Given the description of an element on the screen output the (x, y) to click on. 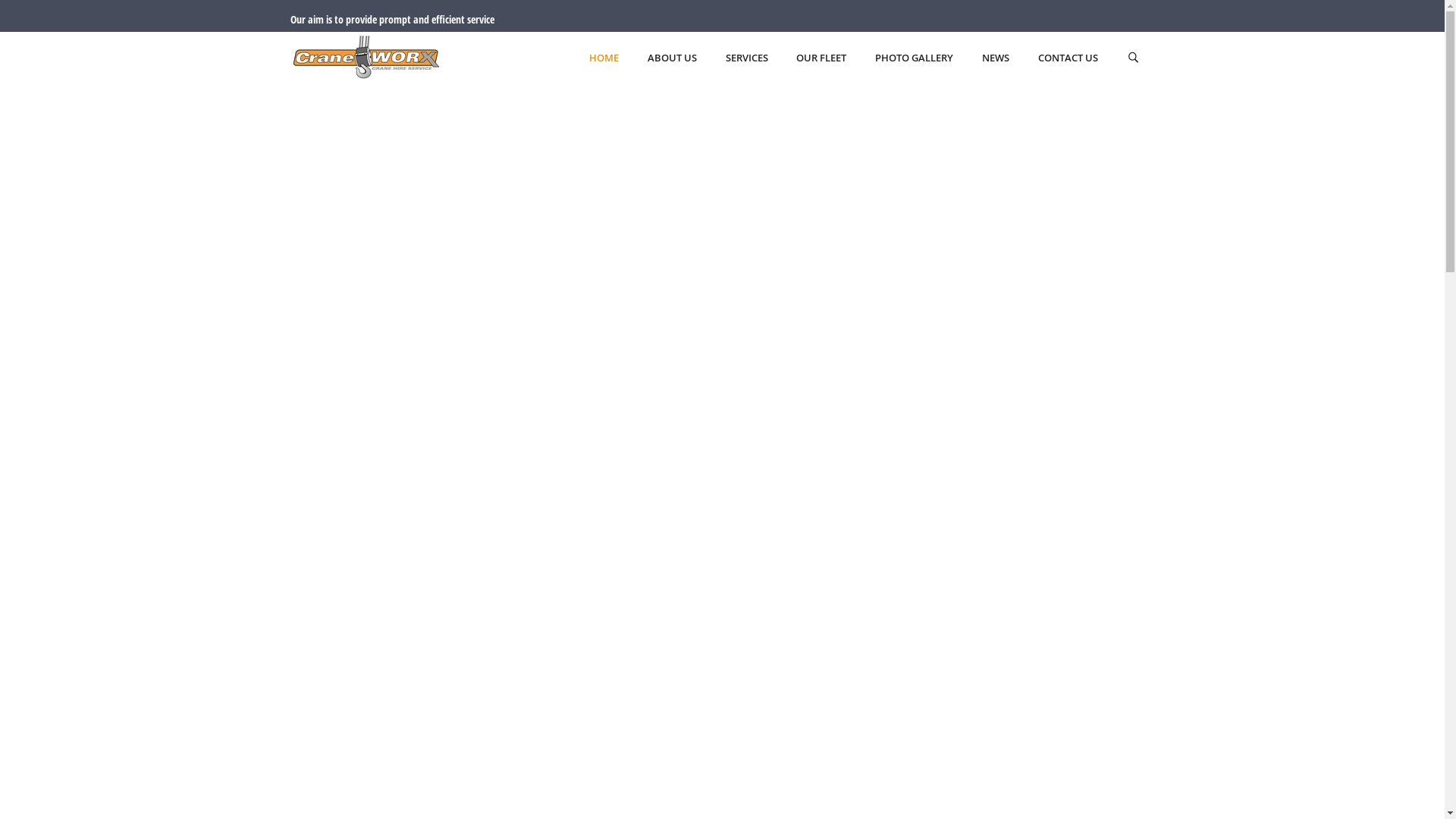
NEWS Element type: text (995, 58)
PHOTO GALLERY Element type: text (913, 58)
OUR FLEET Element type: text (820, 58)
ABOUT US Element type: text (672, 58)
CONTACT US Element type: text (1067, 58)
HOME Element type: text (603, 58)
SERVICES Element type: text (746, 58)
